Given the description of an element on the screen output the (x, y) to click on. 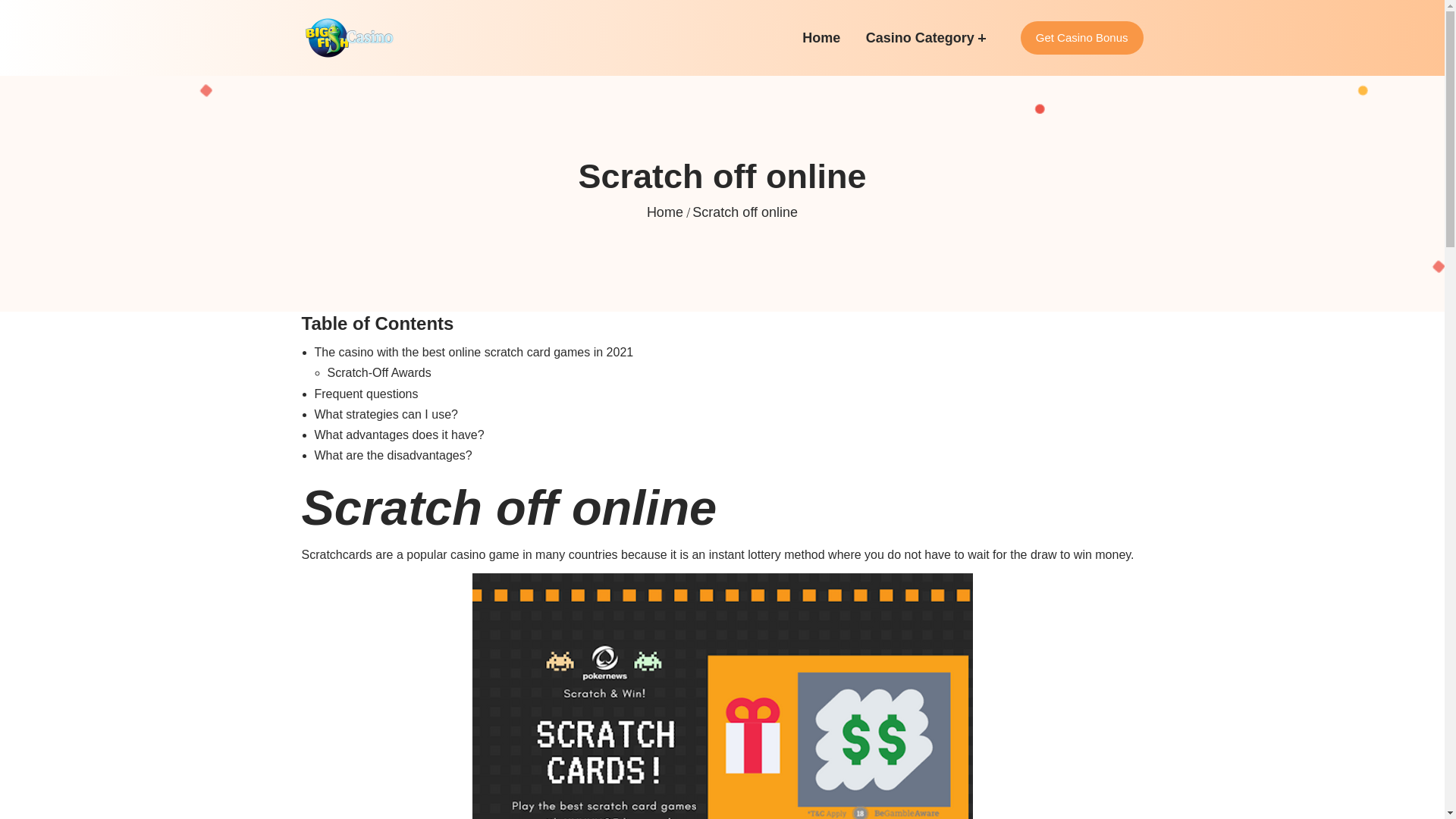
Casino Category (920, 37)
Scratch-Off Awards (378, 372)
Scratch off online (721, 696)
What are the disadvantages? (392, 454)
Frequent questions (365, 393)
Get Casino Bonus (1081, 37)
Home (664, 212)
The casino with the best online scratch card games in 2021 (473, 351)
Home (821, 37)
What strategies can I use? (385, 413)
